Given the description of an element on the screen output the (x, y) to click on. 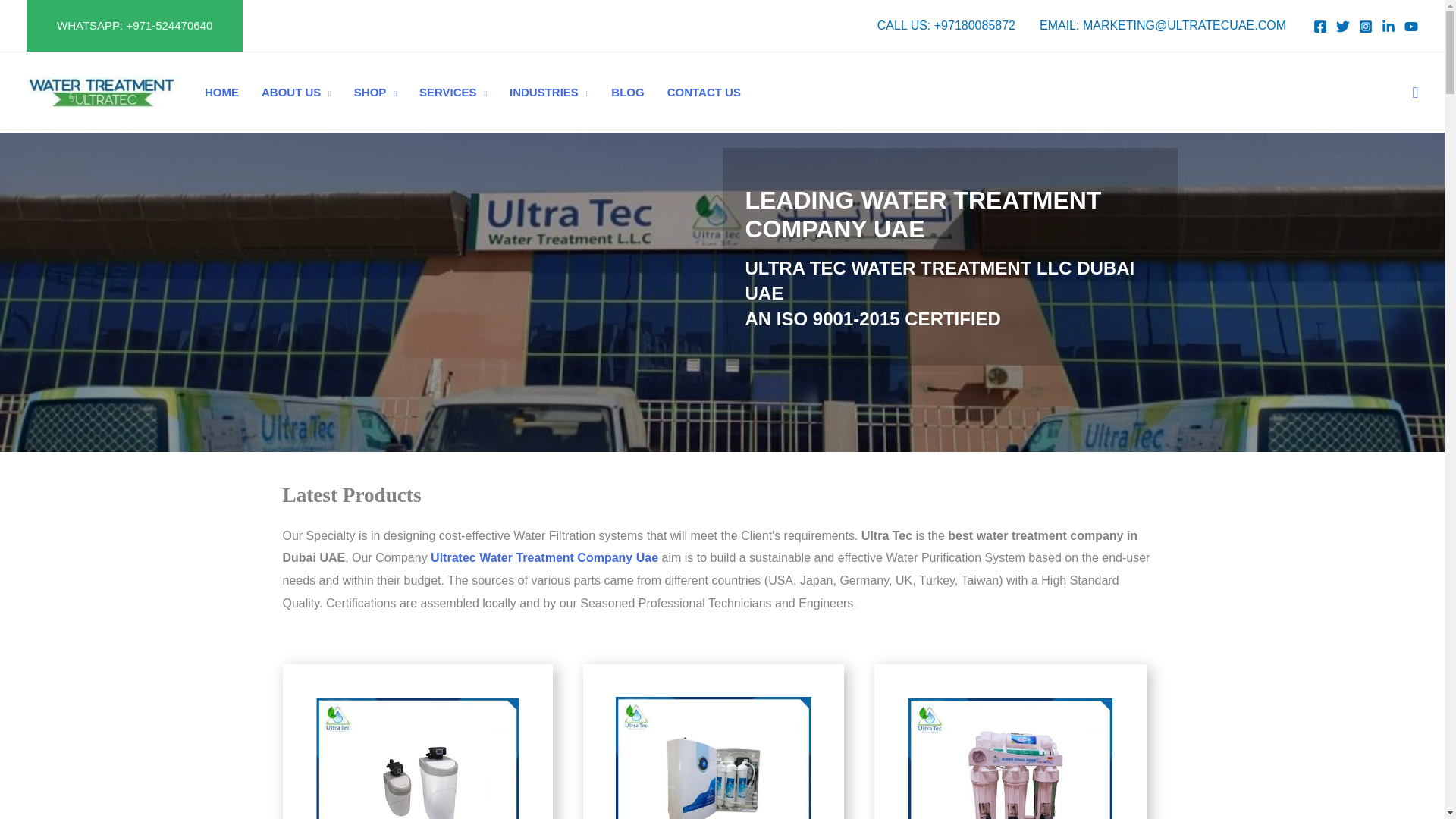
SHOP (374, 92)
HOME (221, 92)
Water Purifier with Alkaline System (712, 741)
ABOUT US (296, 92)
SERVICES (452, 92)
Smart Water Softeners (416, 741)
8-Stage RO System (1010, 741)
